Given the description of an element on the screen output the (x, y) to click on. 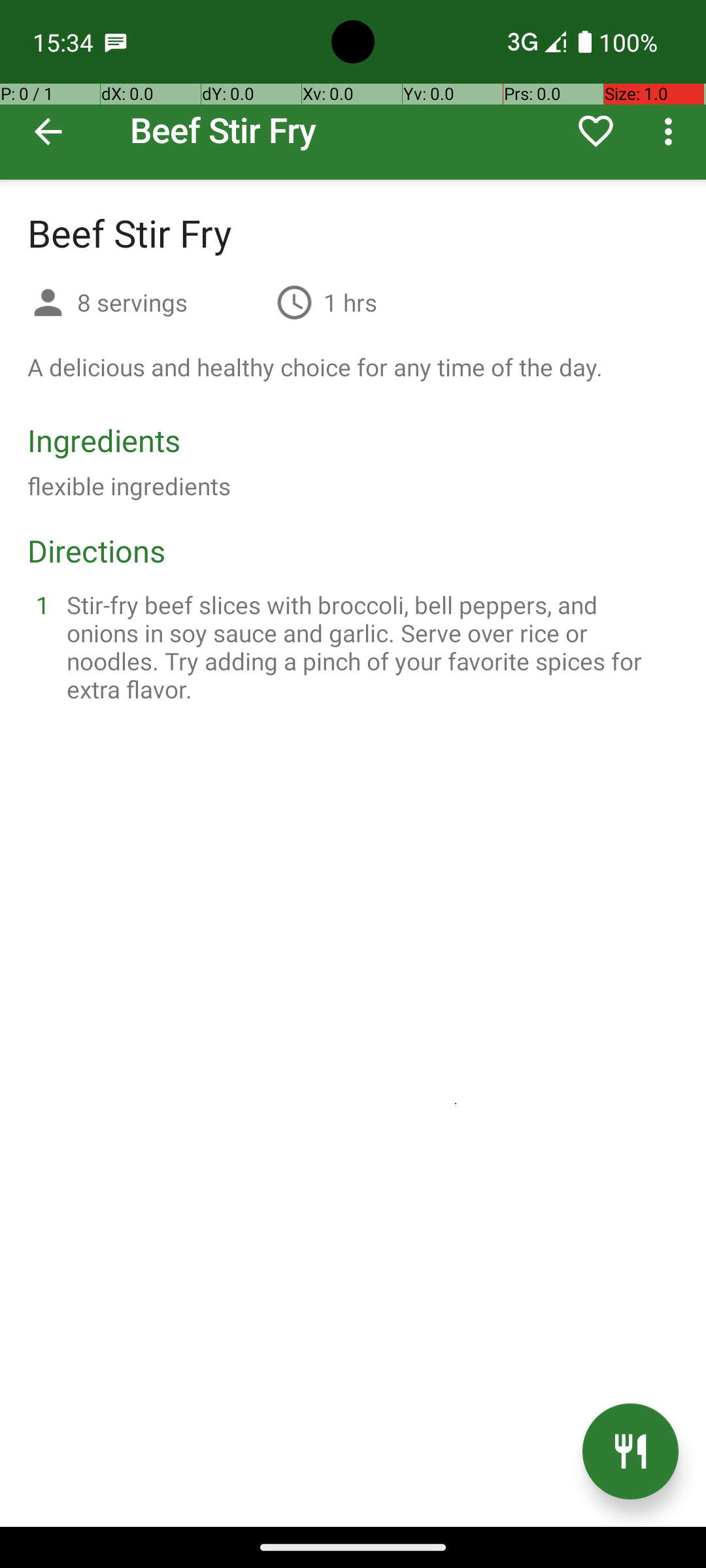
flexible ingredients Element type: android.widget.TextView (181, 485)
Stir-fry beef slices with broccoli, bell peppers, and onions in soy sauce and garlic. Serve over rice or noodles. Try adding a pinch of your favorite spices for extra flavor. Element type: android.widget.TextView (368, 646)
